Given the description of an element on the screen output the (x, y) to click on. 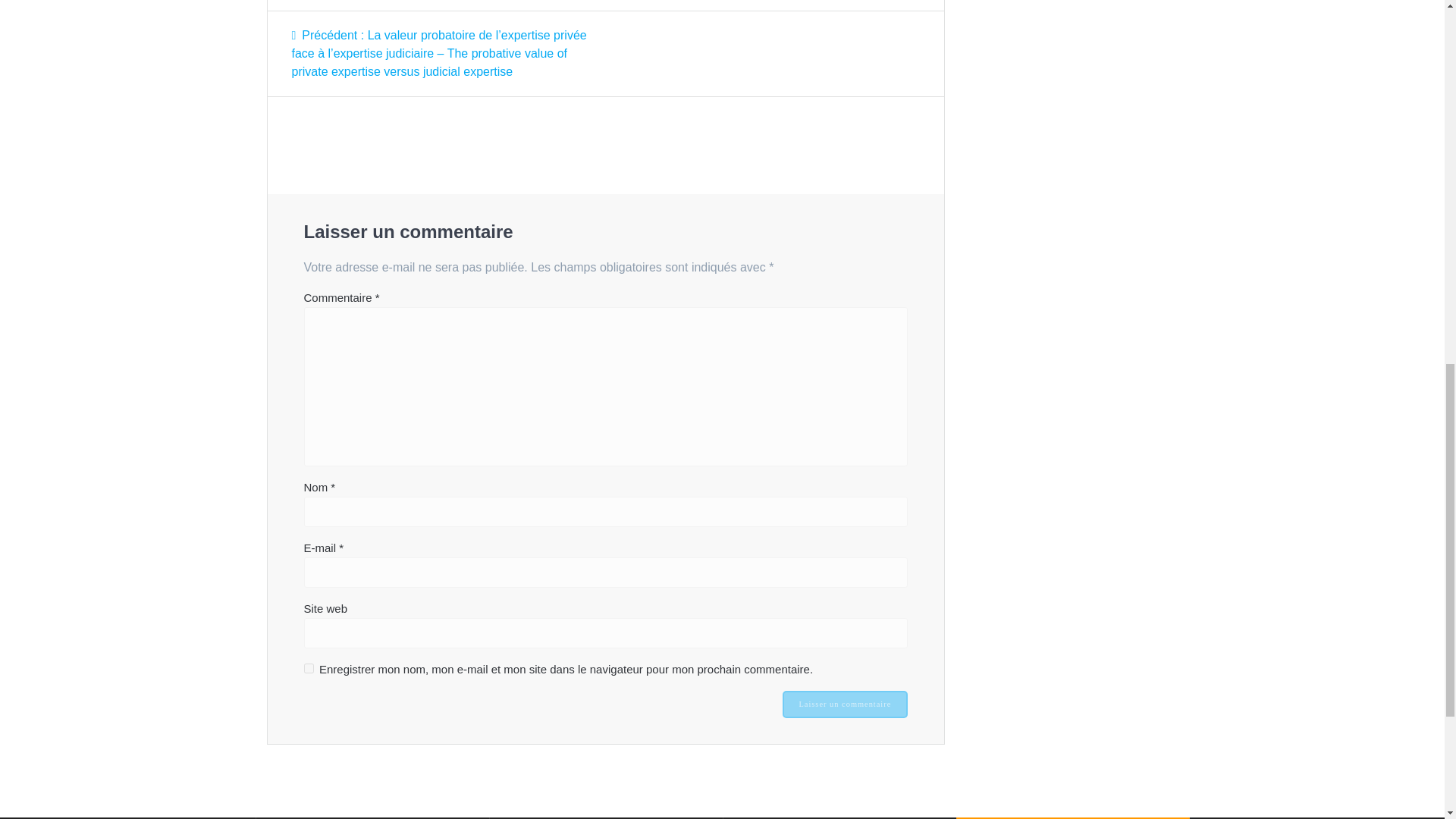
yes (307, 668)
Laisser un commentaire (845, 704)
Laisser un commentaire (845, 704)
